Given the description of an element on the screen output the (x, y) to click on. 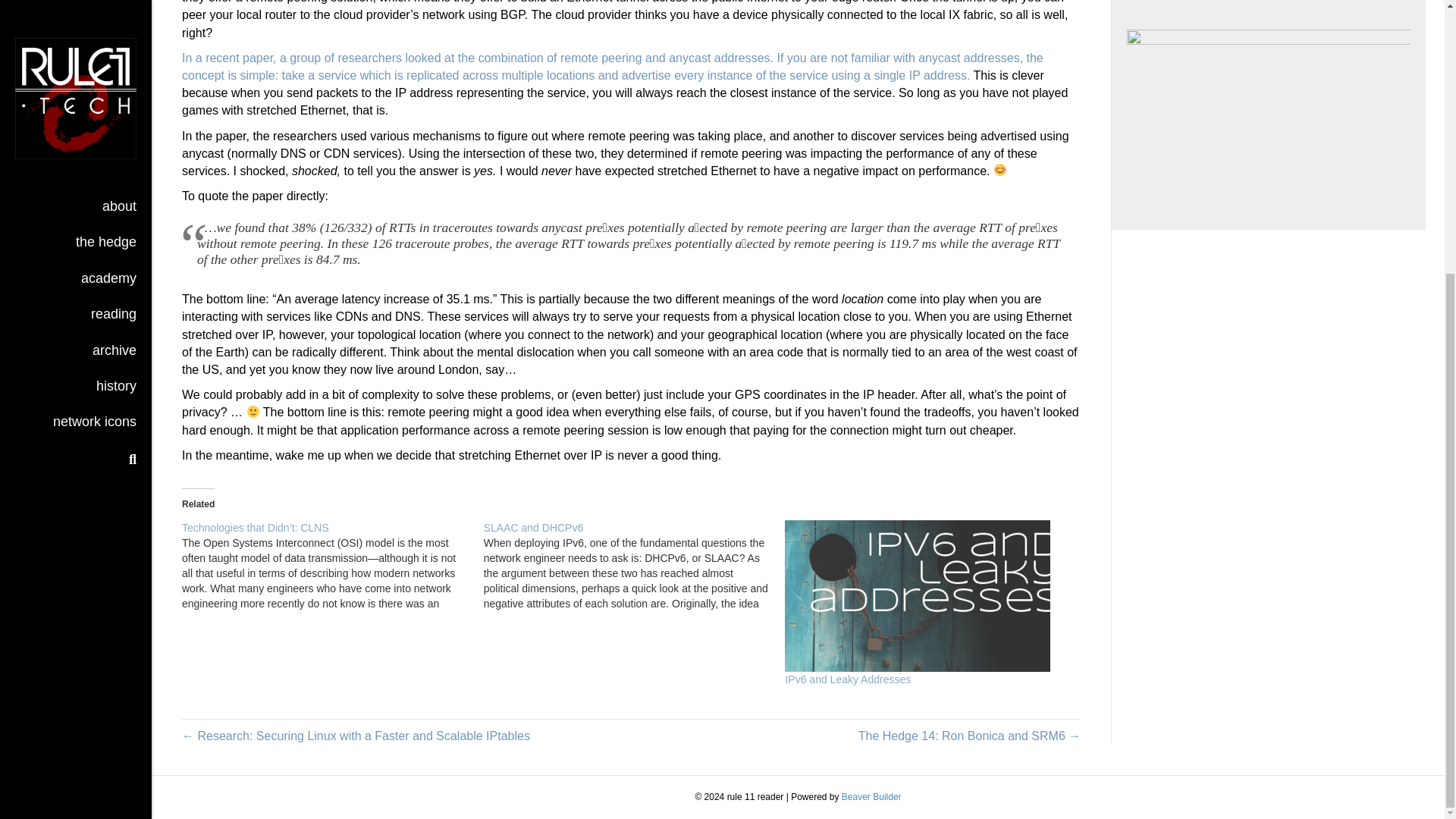
SLAAC and DHCPv6 (634, 565)
IPv6 and Leaky Addresses (847, 679)
IPv6 and Leaky Addresses (847, 679)
SLAAC and DHCPv6 (533, 527)
history (116, 2)
SLAAC and DHCPv6 (533, 527)
network icons (94, 25)
IPv6 and Leaky Addresses (927, 595)
WordPress Page Builder Plugin (871, 796)
